Given the description of an element on the screen output the (x, y) to click on. 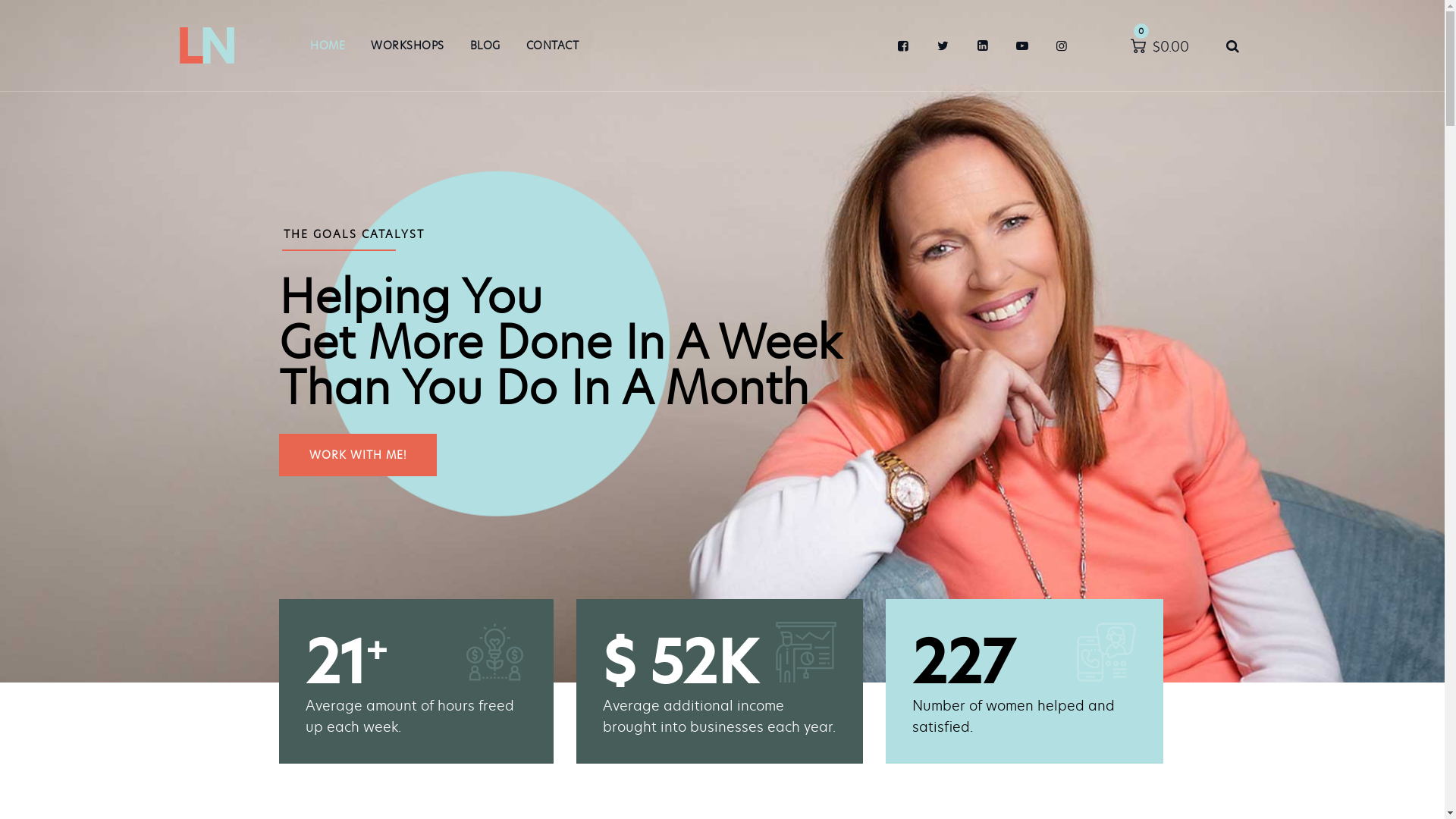
CONTACT Element type: text (552, 45)
WORKSHOPS Element type: text (407, 45)
Linda Nicol Element type: hover (207, 46)
BLOG Element type: text (485, 45)
0
$0.00 Element type: text (1158, 44)
WORK WITH ME! Element type: text (357, 454)
HOME Element type: text (327, 45)
